Given the description of an element on the screen output the (x, y) to click on. 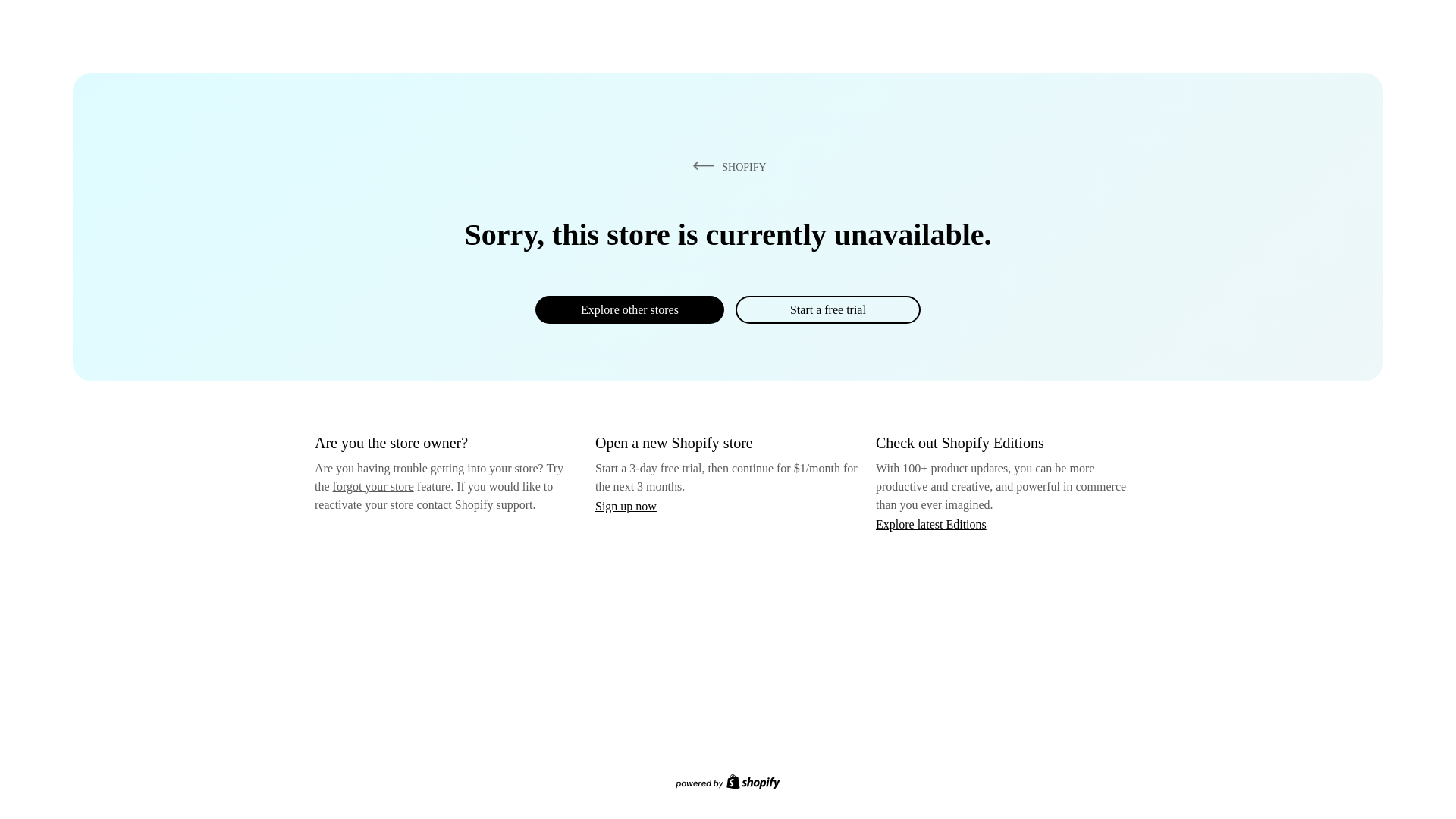
forgot your store (373, 486)
SHOPIFY (726, 166)
Shopify support (493, 504)
Sign up now (625, 505)
Start a free trial (827, 309)
Explore latest Editions (931, 523)
Explore other stores (629, 309)
